Given the description of an element on the screen output the (x, y) to click on. 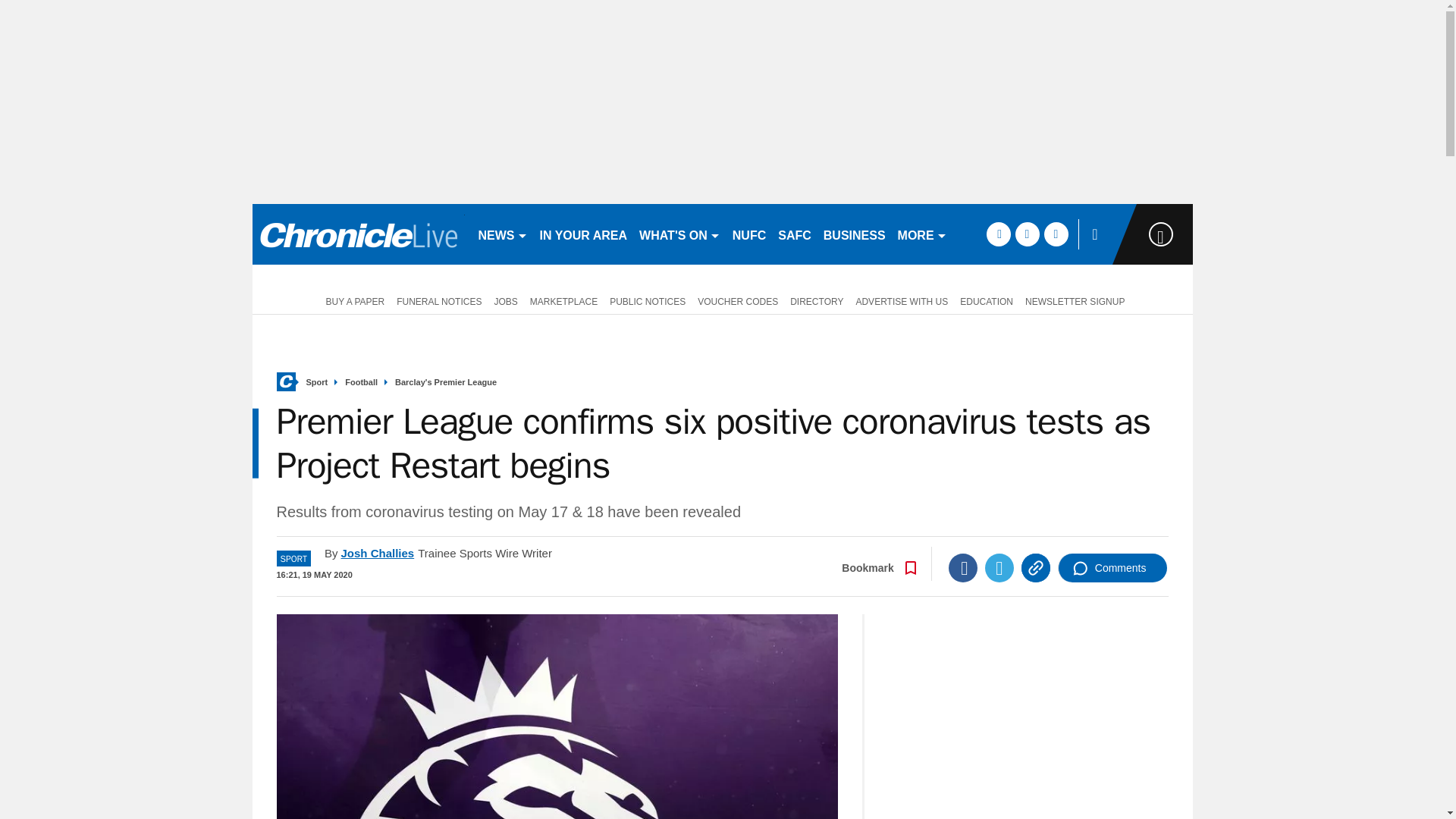
nechronicle (357, 233)
WHAT'S ON (679, 233)
MORE (922, 233)
facebook (997, 233)
BUSINESS (853, 233)
Comments (1112, 567)
NEWS (501, 233)
Facebook (962, 567)
twitter (1026, 233)
IN YOUR AREA (583, 233)
